Given the description of an element on the screen output the (x, y) to click on. 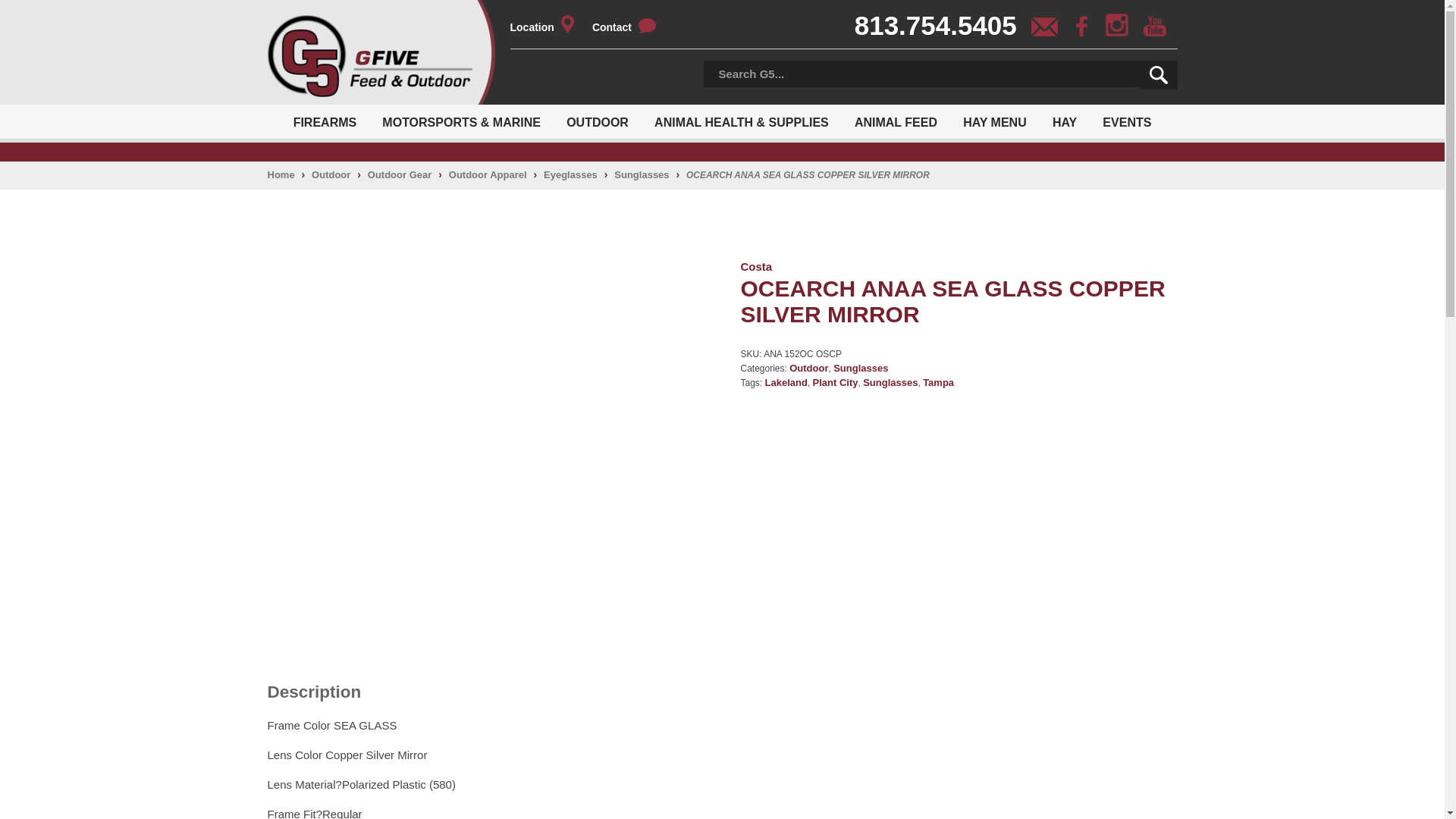
HAY (1064, 121)
HAY MENU (995, 121)
OUTDOOR (597, 121)
813.754.5405 (940, 30)
EVENTS (1125, 121)
FIREARMS (325, 121)
Location (548, 26)
Contact (631, 26)
ANIMAL FEED (896, 121)
